Given the description of an element on the screen output the (x, y) to click on. 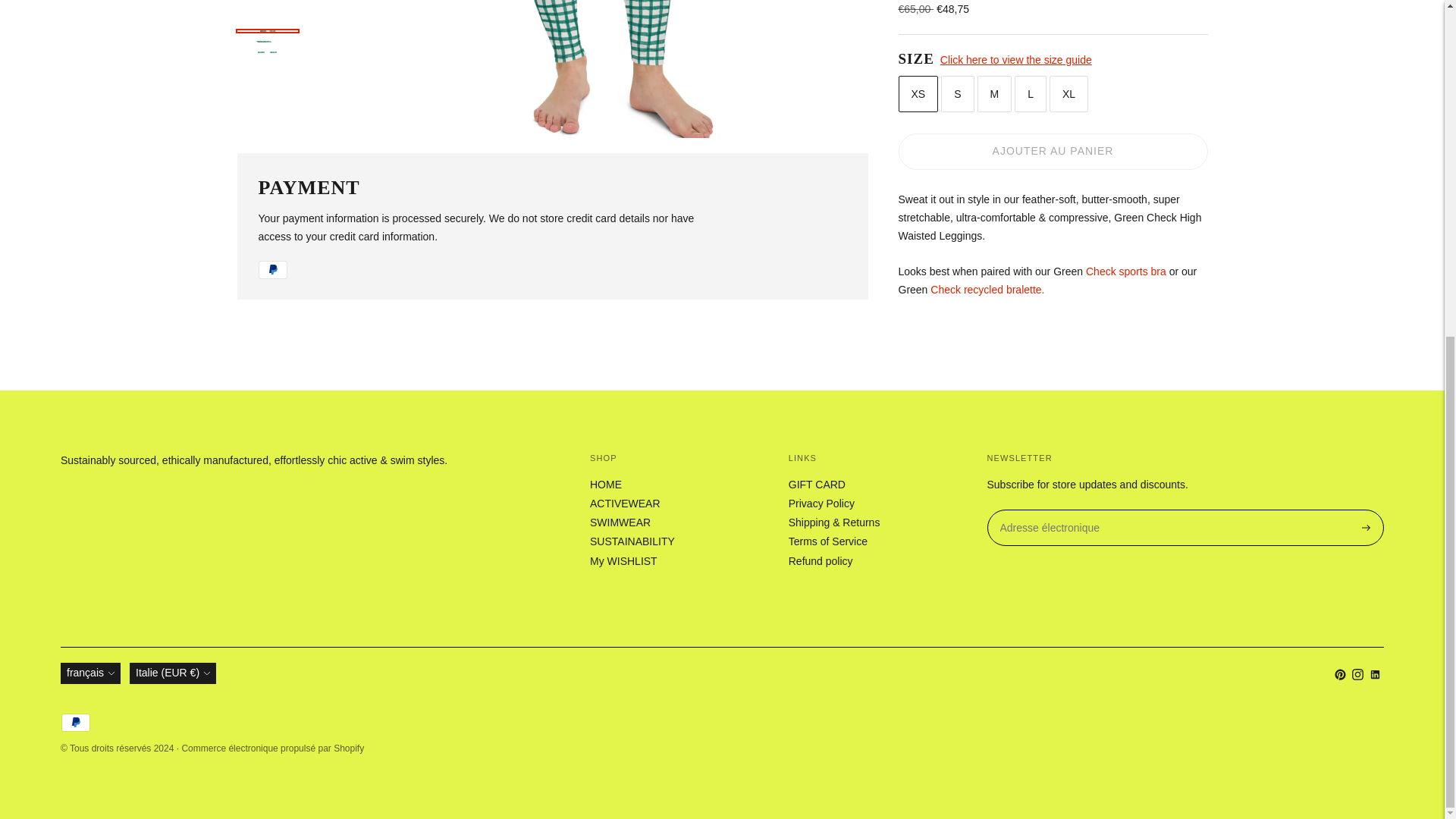
SoWhat sur Instagram (1357, 676)
SoWhat sur LinkedIn, (1375, 676)
SoWhat sur Pinterest (1340, 676)
